Given the description of an element on the screen output the (x, y) to click on. 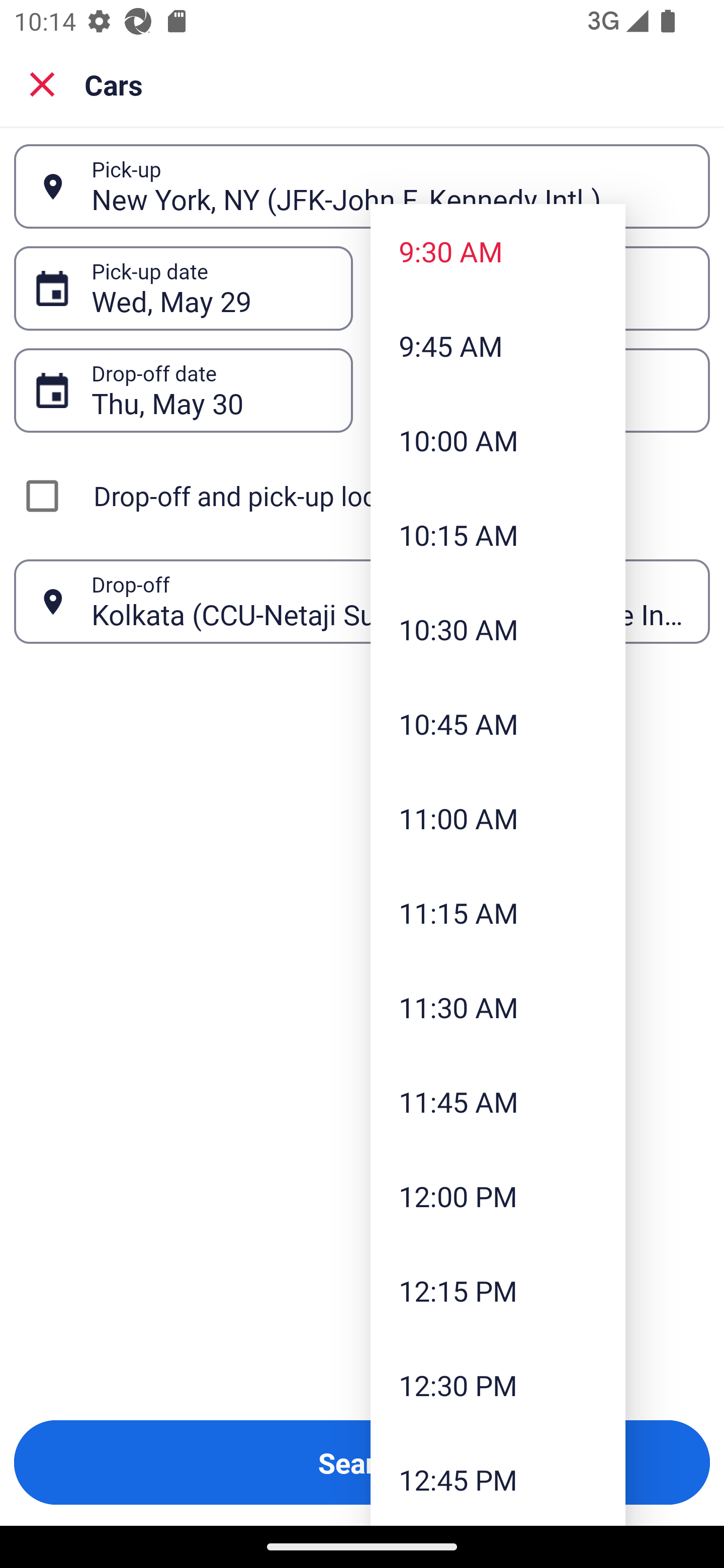
9:30 AM (497, 250)
9:45 AM (497, 345)
10:00 AM (497, 440)
10:15 AM (497, 534)
10:30 AM (497, 628)
10:45 AM (497, 723)
11:00 AM (497, 818)
11:15 AM (497, 912)
11:30 AM (497, 1006)
11:45 AM (497, 1101)
12:00 PM (497, 1196)
12:15 PM (497, 1290)
12:30 PM (497, 1384)
12:45 PM (497, 1478)
